Given the description of an element on the screen output the (x, y) to click on. 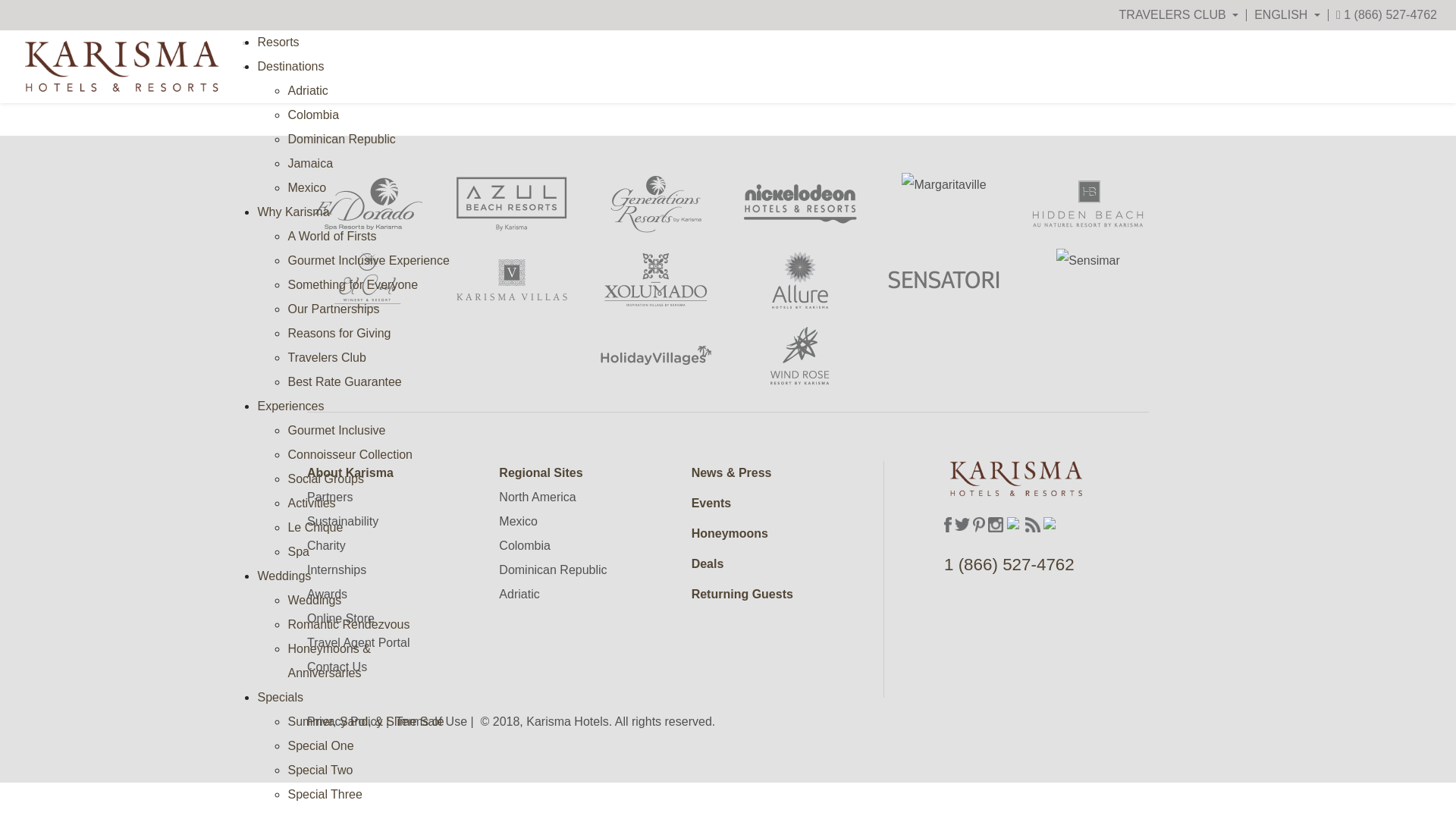
Adriatic (306, 90)
Dominican Republic (340, 138)
Reasons for Giving (338, 332)
Our Partnerships (332, 308)
Something for Everyone (351, 284)
Destinations (290, 65)
Mexico (306, 187)
Colombia (312, 114)
Social Groups (325, 478)
Experiences (290, 405)
